Given the description of an element on the screen output the (x, y) to click on. 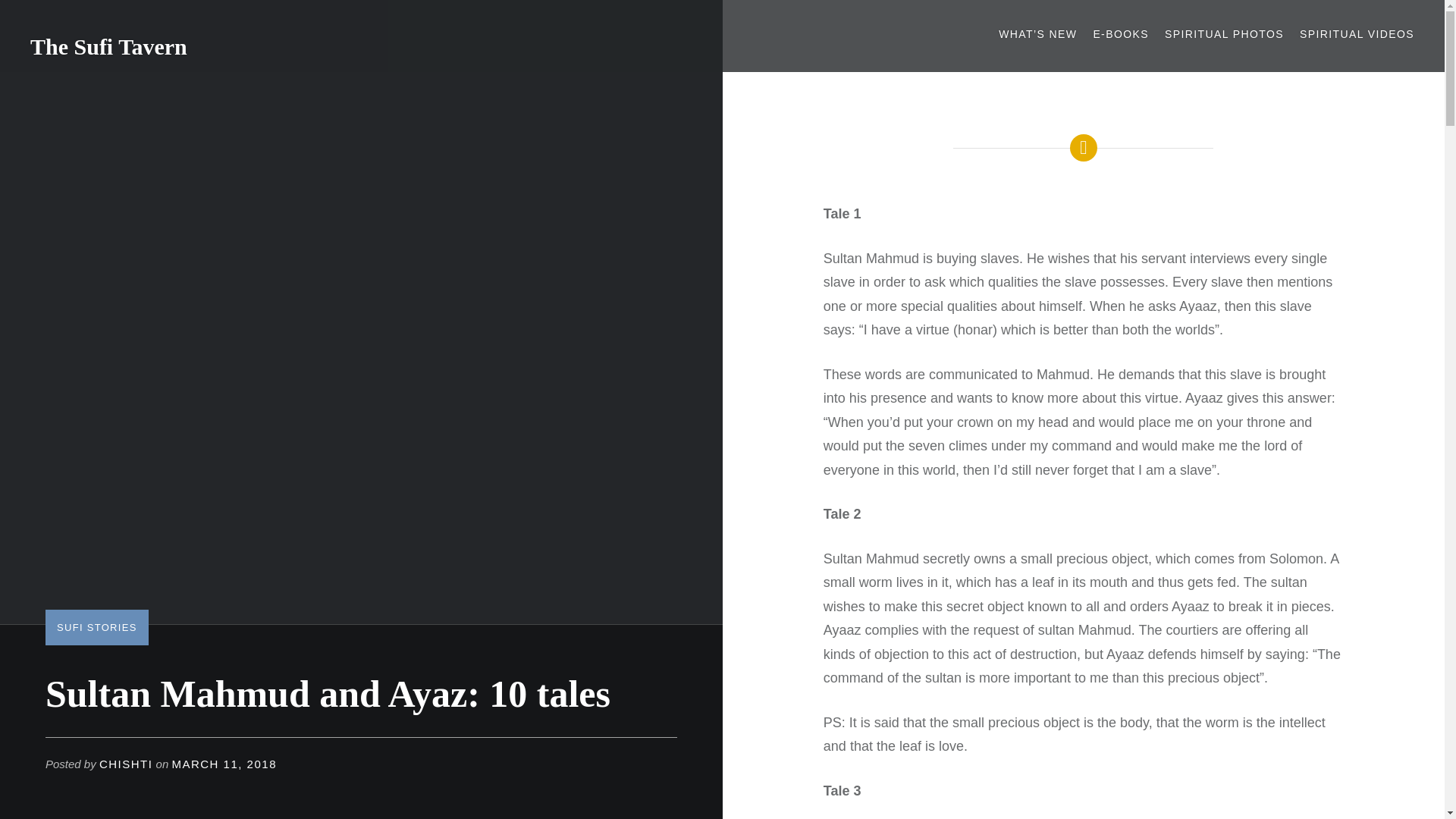
SPIRITUAL PHOTOS (1224, 34)
SUFI STORIES (96, 627)
CHISHTI (125, 763)
MARCH 11, 2018 (223, 763)
The Sufi Tavern (108, 46)
SPIRITUAL VIDEOS (1356, 34)
E-BOOKS (1120, 34)
